Given the description of an element on the screen output the (x, y) to click on. 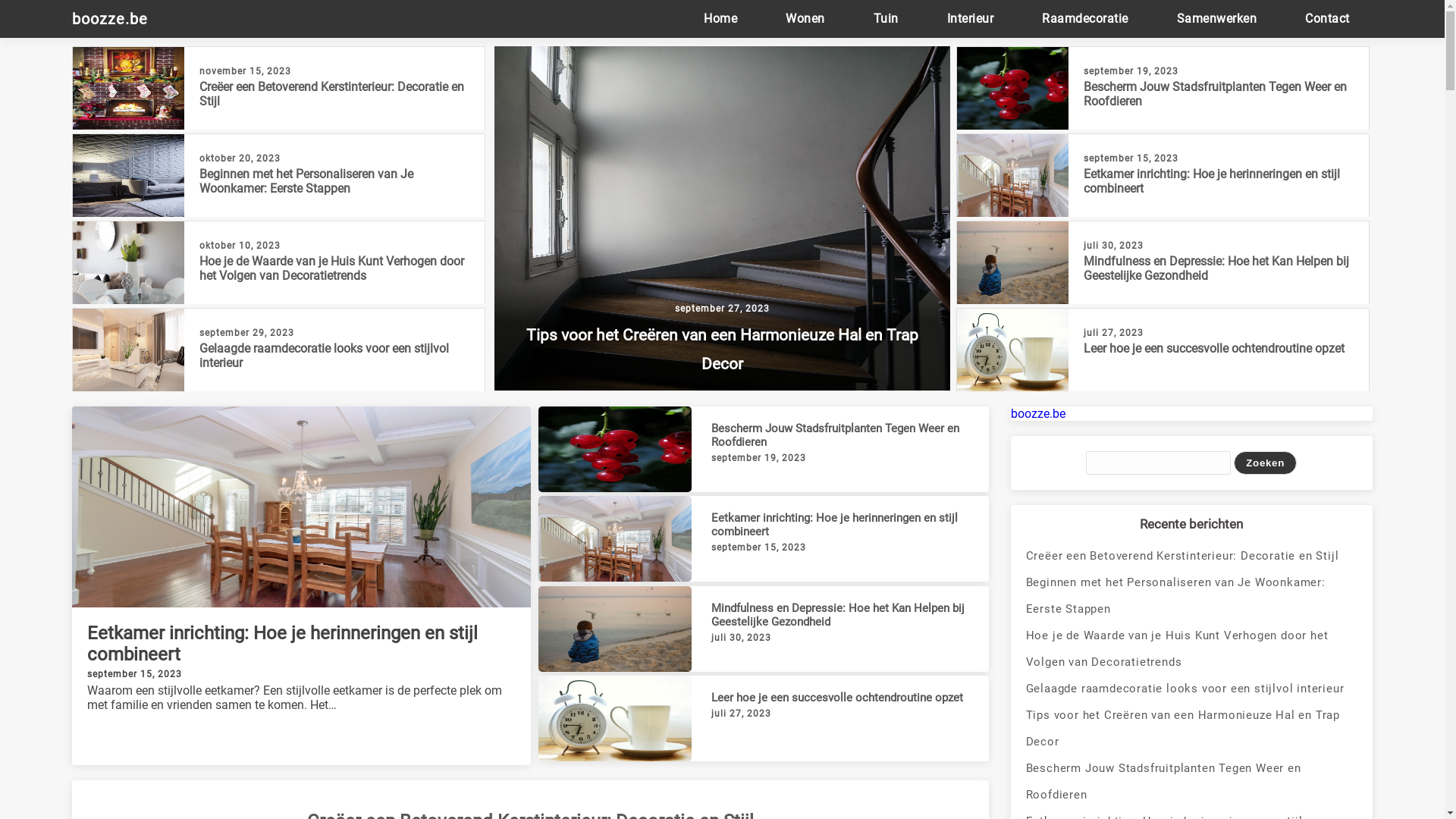
Samenwerken Element type: text (1216, 18)
Leer hoe je een succesvolle ochtendroutine opzet Element type: text (1213, 348)
Bescherm Jouw Stadsfruitplanten Tegen Weer en Roofdieren Element type: text (1191, 781)
Leer hoe je een succesvolle ochtendroutine opzet Element type: text (837, 697)
Zoeken Element type: text (1264, 462)
Contact Element type: text (1327, 18)
Bescherm Jouw Stadsfruitplanten Tegen Weer en Roofdieren Element type: text (835, 434)
boozze.be Element type: text (1037, 413)
Wonen Element type: text (805, 18)
Home Element type: text (720, 18)
Raamdecoratie Element type: text (1084, 18)
Tuin Element type: text (885, 18)
Gelaagde raamdecoratie looks voor een stijlvol interieur Element type: text (323, 355)
boozze.be Element type: text (117, 18)
Bescherm Jouw Stadsfruitplanten Tegen Weer en Roofdieren Element type: text (1214, 93)
Gelaagde raamdecoratie looks voor een stijlvol interieur Element type: text (1191, 688)
Interieur Element type: text (970, 18)
